Given the description of an element on the screen output the (x, y) to click on. 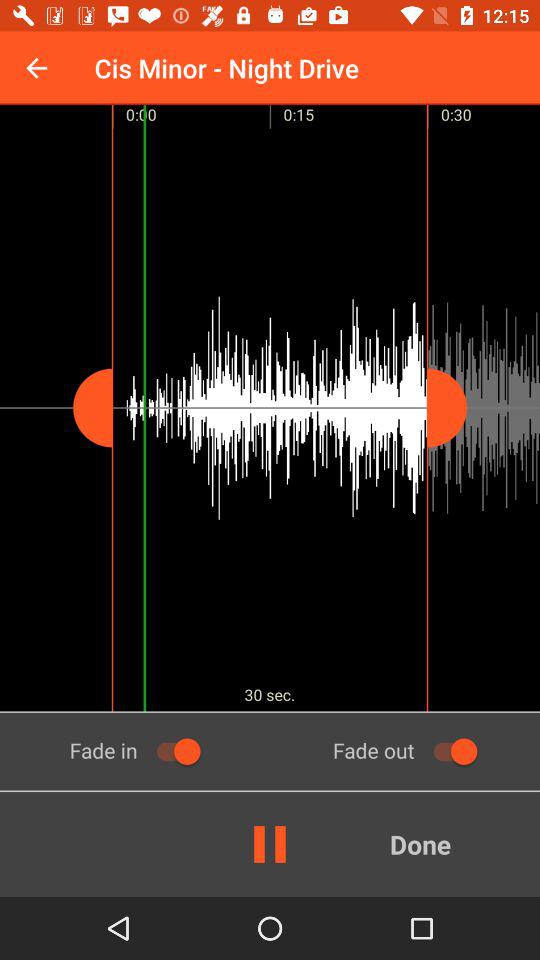
select item next to the cis minor night item (36, 68)
